Given the description of an element on the screen output the (x, y) to click on. 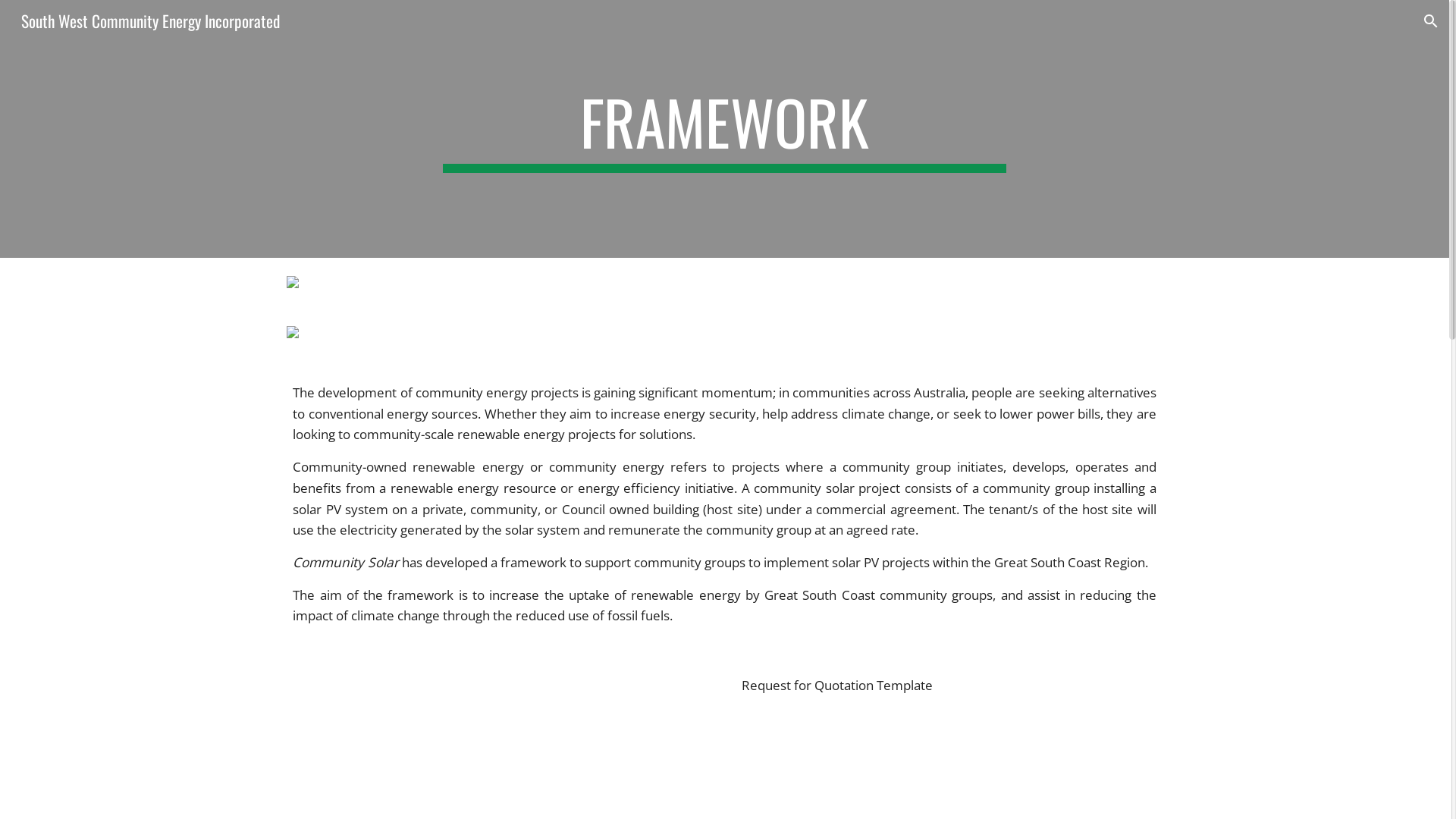
South West Community Energy Incorporated Element type: text (150, 18)
